Given the description of an element on the screen output the (x, y) to click on. 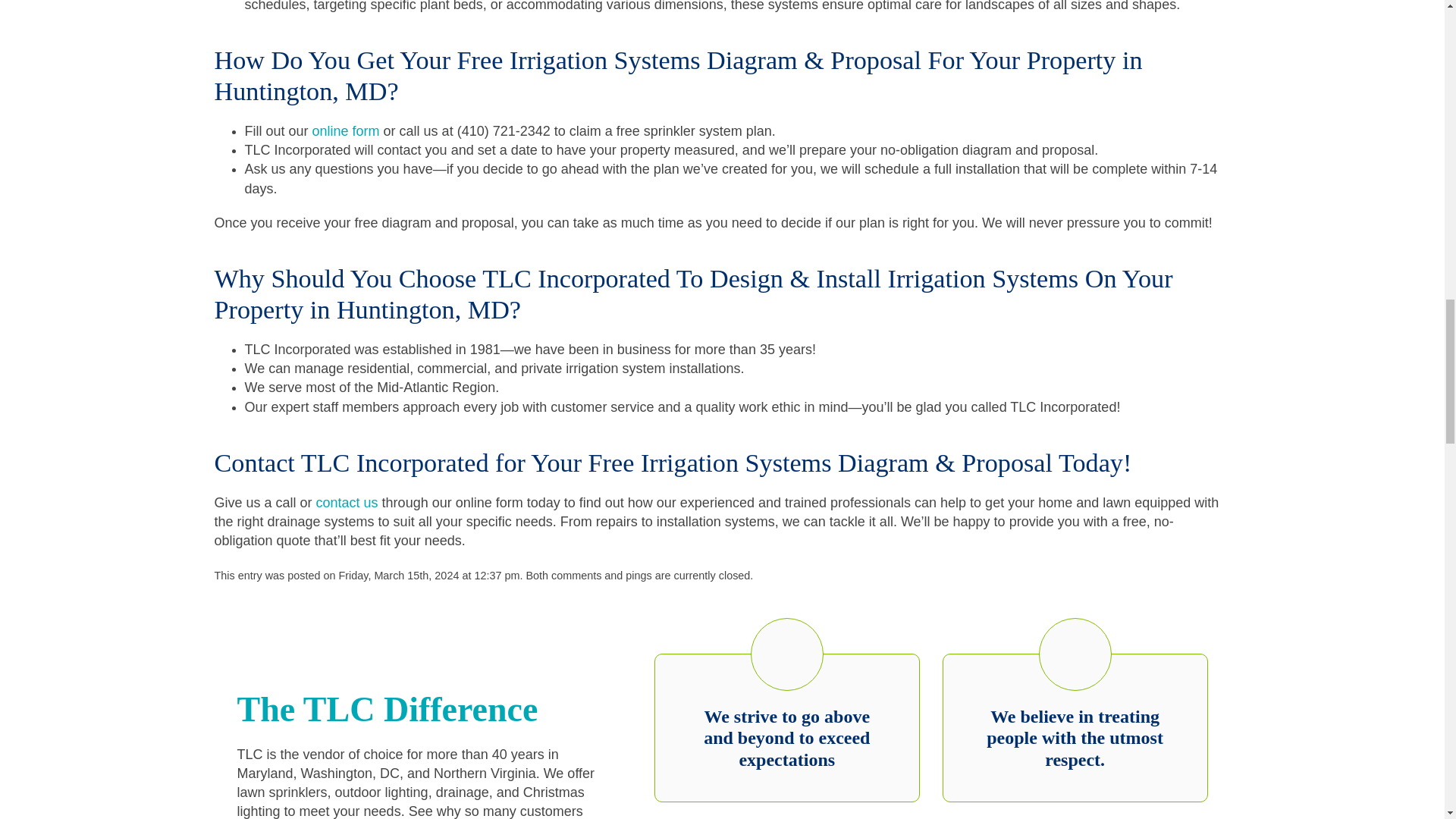
contact us (346, 502)
online form (346, 130)
